Given the description of an element on the screen output the (x, y) to click on. 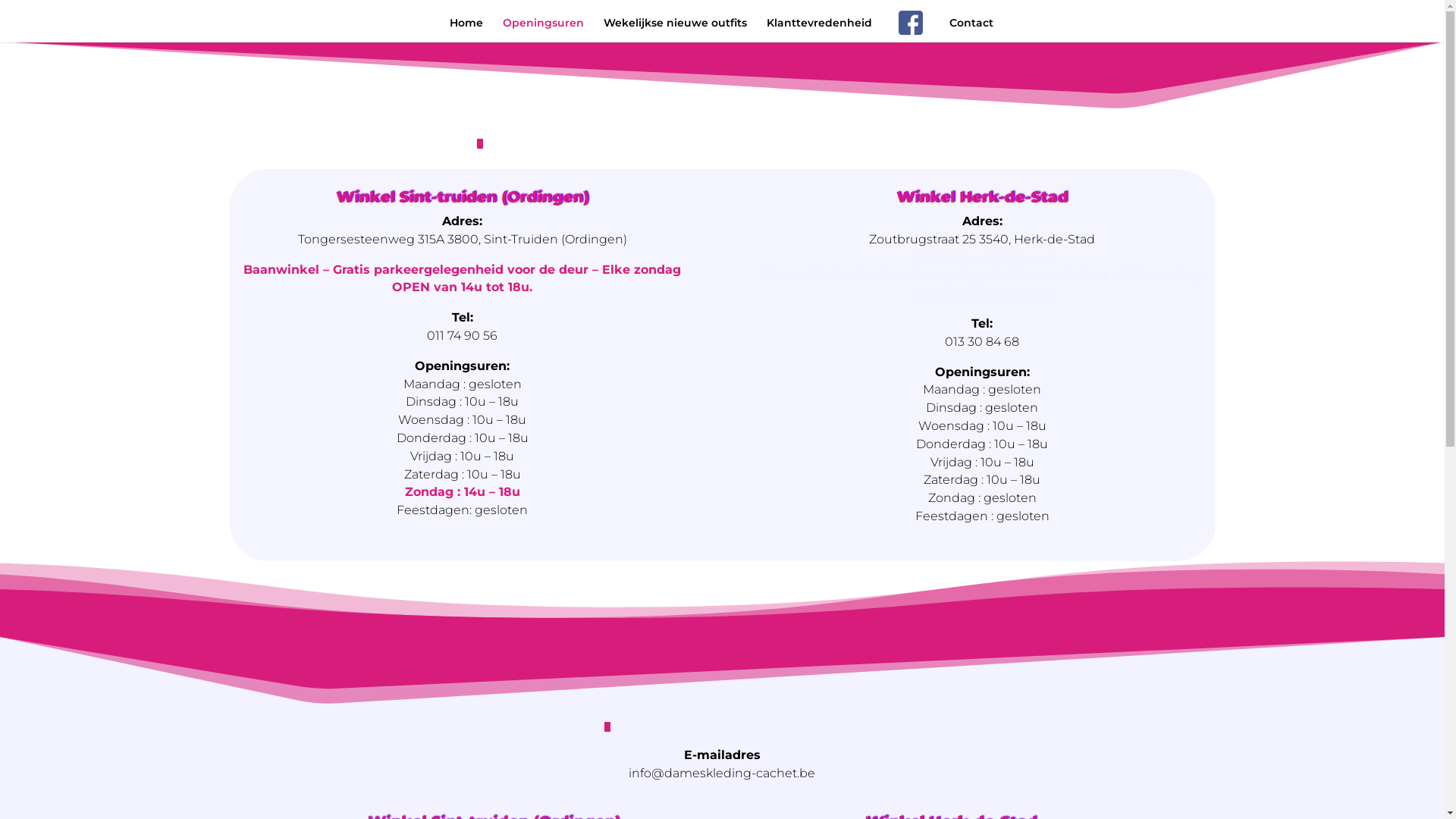
Wekelijkse nieuwe outfits Element type: text (674, 29)
Contact Element type: text (971, 29)
Home Element type: text (466, 29)
info@dameskleding-cachet.be Element type: text (721, 781)
Openingsuren Element type: text (542, 29)
Klanttevredenheid Element type: text (819, 29)
